Given the description of an element on the screen output the (x, y) to click on. 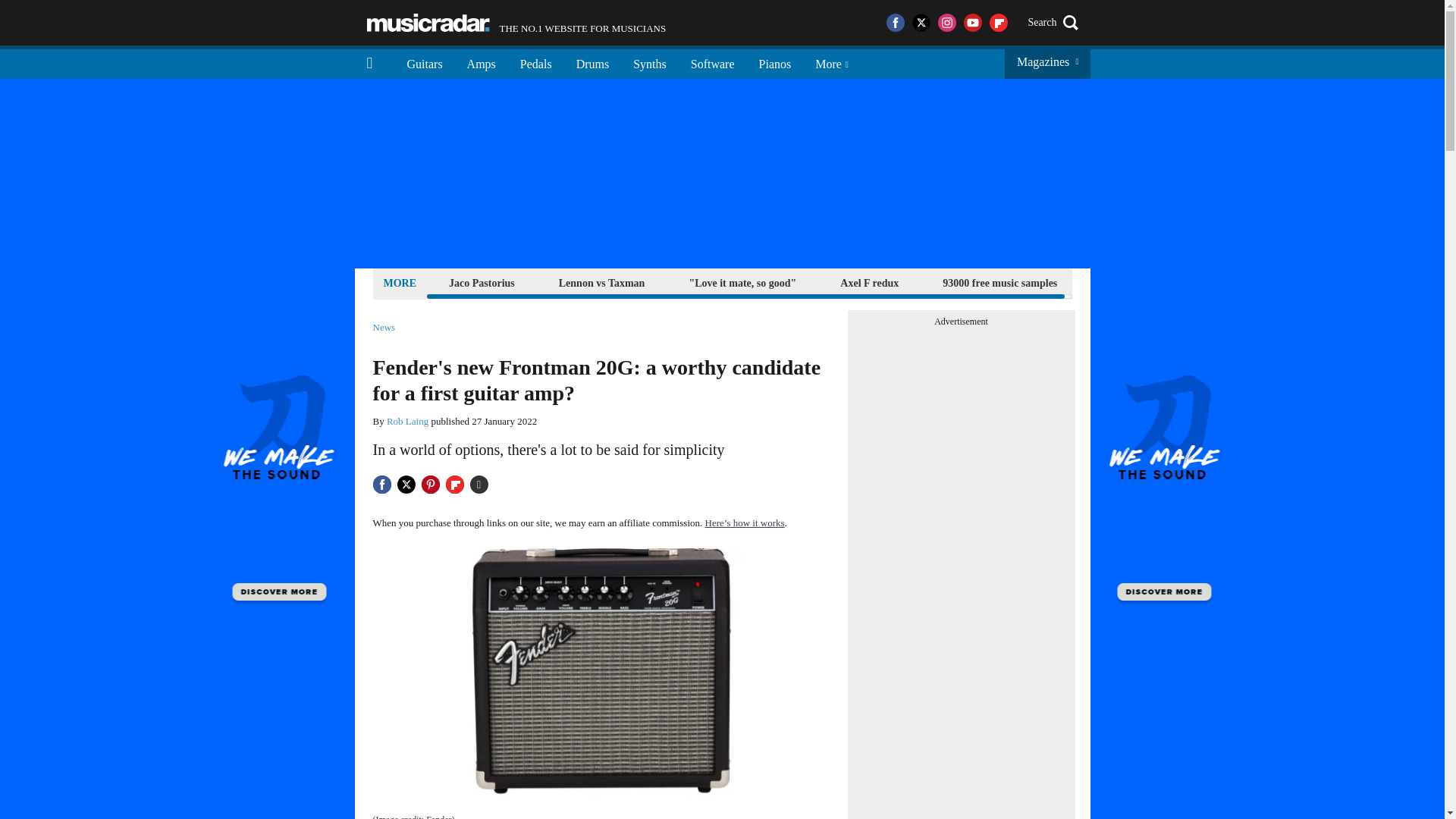
Music Radar (427, 22)
Synths (649, 61)
Pedals (536, 61)
Pianos (774, 61)
Guitars (424, 61)
"Love it mate, so good" (742, 282)
Software (712, 61)
Amps (481, 61)
Axel F redux (869, 282)
93000 free music samples (999, 282)
Lennon vs Taxman (516, 22)
Advertisement (601, 282)
